Given the description of an element on the screen output the (x, y) to click on. 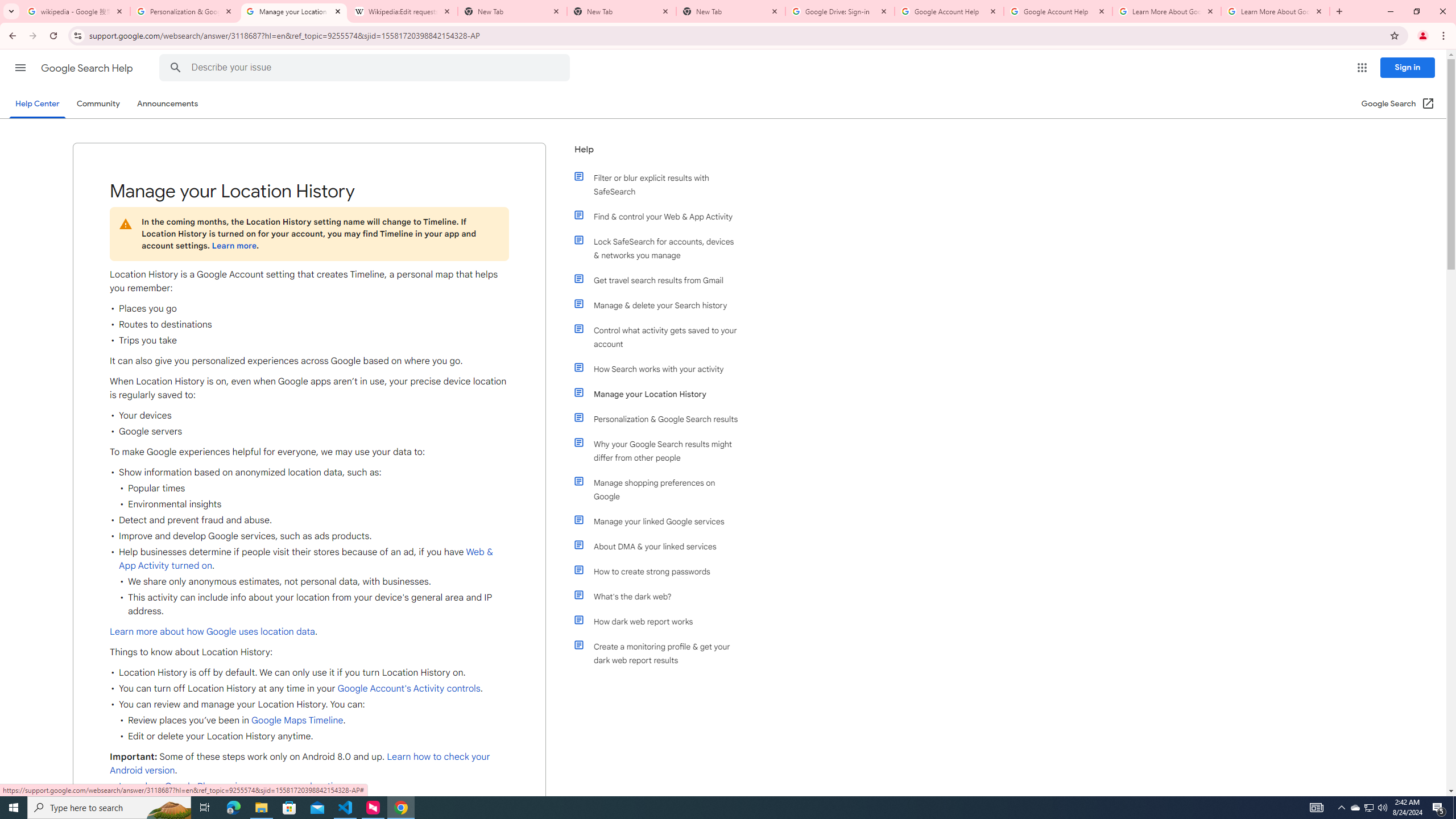
Google Search (Open in a new window) (1398, 103)
 Google Account's Activity controls (407, 688)
How dark web report works (661, 621)
Manage your linked Google services (661, 521)
What's the dark web? (661, 596)
Wikipedia:Edit requests - Wikipedia (403, 11)
About DMA & your linked services (661, 546)
Web & App Activity turned on (306, 558)
Manage shopping preferences on Google (661, 489)
Learn how Google Play services can use your location (231, 785)
Help Center (36, 103)
Manage & delete your Search history (661, 305)
Find & control your Web & App Activity (661, 216)
